Given the description of an element on the screen output the (x, y) to click on. 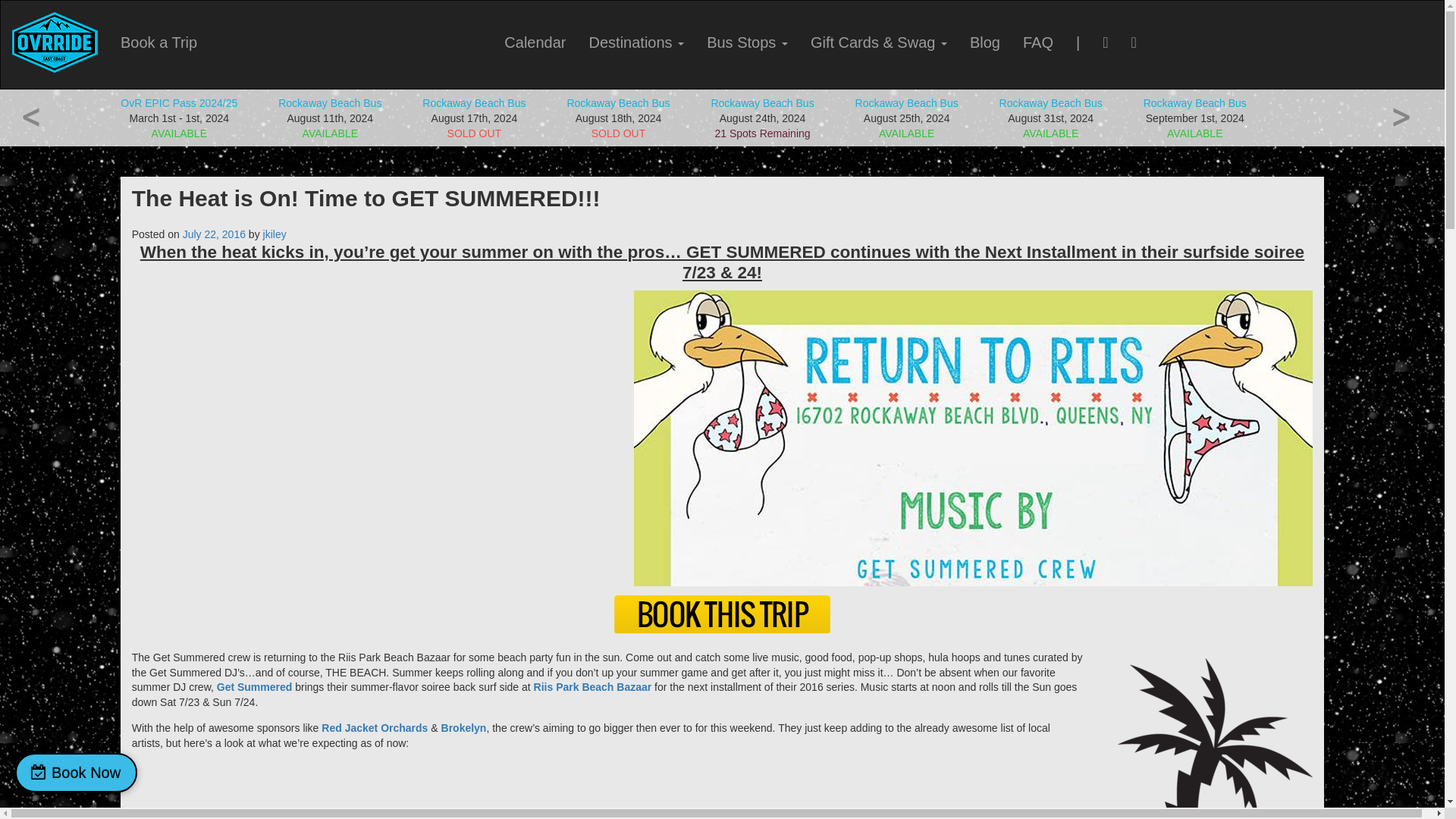
Calendar (534, 42)
Bus Stops (747, 42)
Book a Trip (158, 42)
Calendar (534, 42)
Destinations (636, 42)
 Home (54, 42)
Destinations (636, 42)
Book a Trip (158, 42)
Home (54, 42)
Book Now (75, 772)
